Given the description of an element on the screen output the (x, y) to click on. 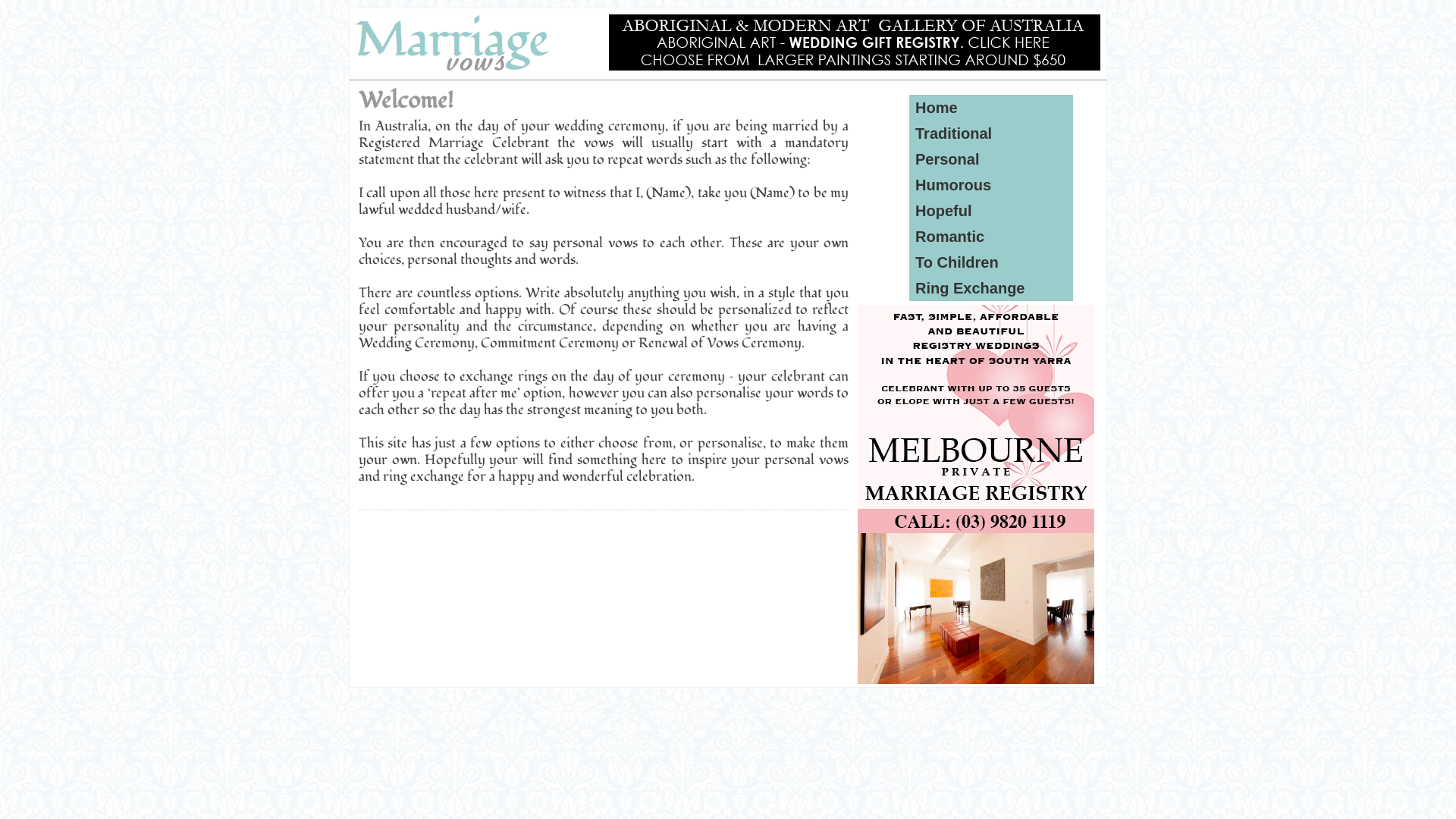
Personal Element type: text (947, 158)
Romantic Element type: text (949, 236)
Traditional Element type: text (953, 133)
Home Element type: text (936, 107)
Humorous Element type: text (953, 184)
Hopeful Element type: text (943, 210)
Ring Exchange Element type: text (969, 287)
To Children Element type: text (956, 262)
